Given the description of an element on the screen output the (x, y) to click on. 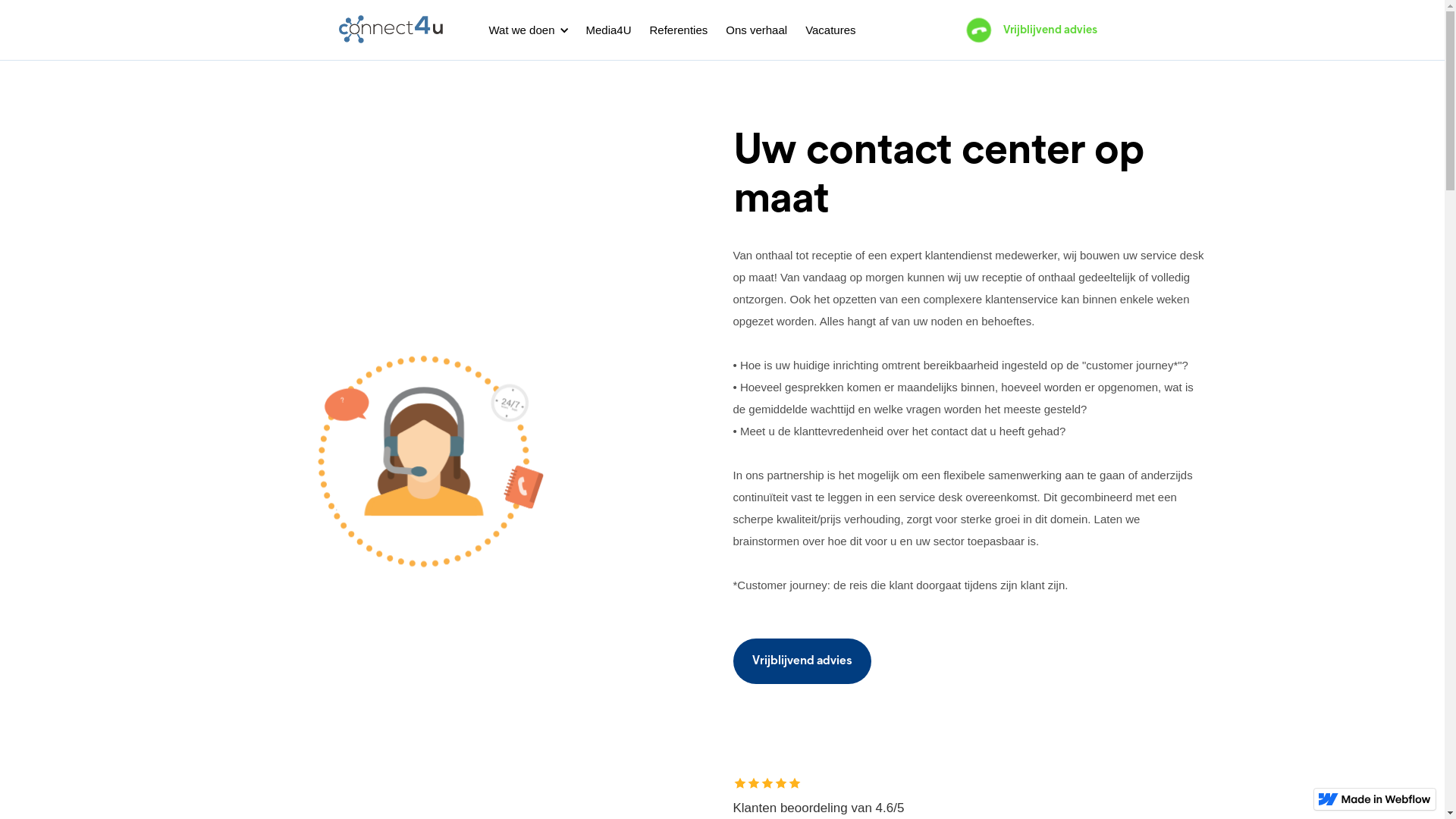
Vrijblijvend advies Element type: text (801, 661)
Vacatures Element type: text (830, 30)
Referenties Element type: text (678, 30)
Media4U Element type: text (608, 30)
Ons verhaal Element type: text (756, 30)
